Given the description of an element on the screen output the (x, y) to click on. 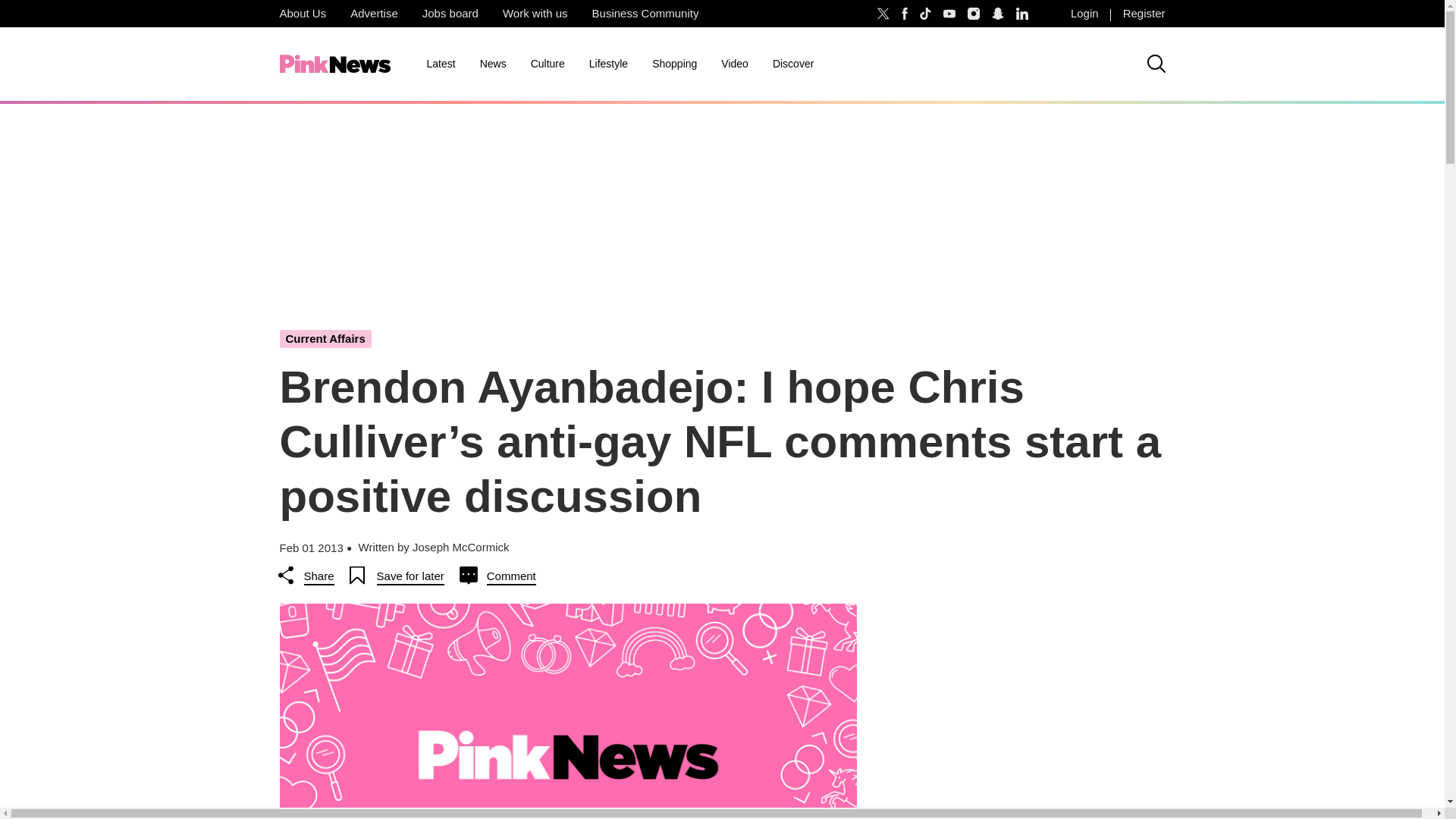
Register (1143, 13)
Follow PinkNews on LinkedIn (1021, 13)
About Us (301, 13)
Jobs board (450, 13)
Culture (547, 63)
Work with us (534, 13)
Business Community (645, 13)
Lifestyle (608, 63)
Login (1084, 13)
Latest (440, 63)
